Given the description of an element on the screen output the (x, y) to click on. 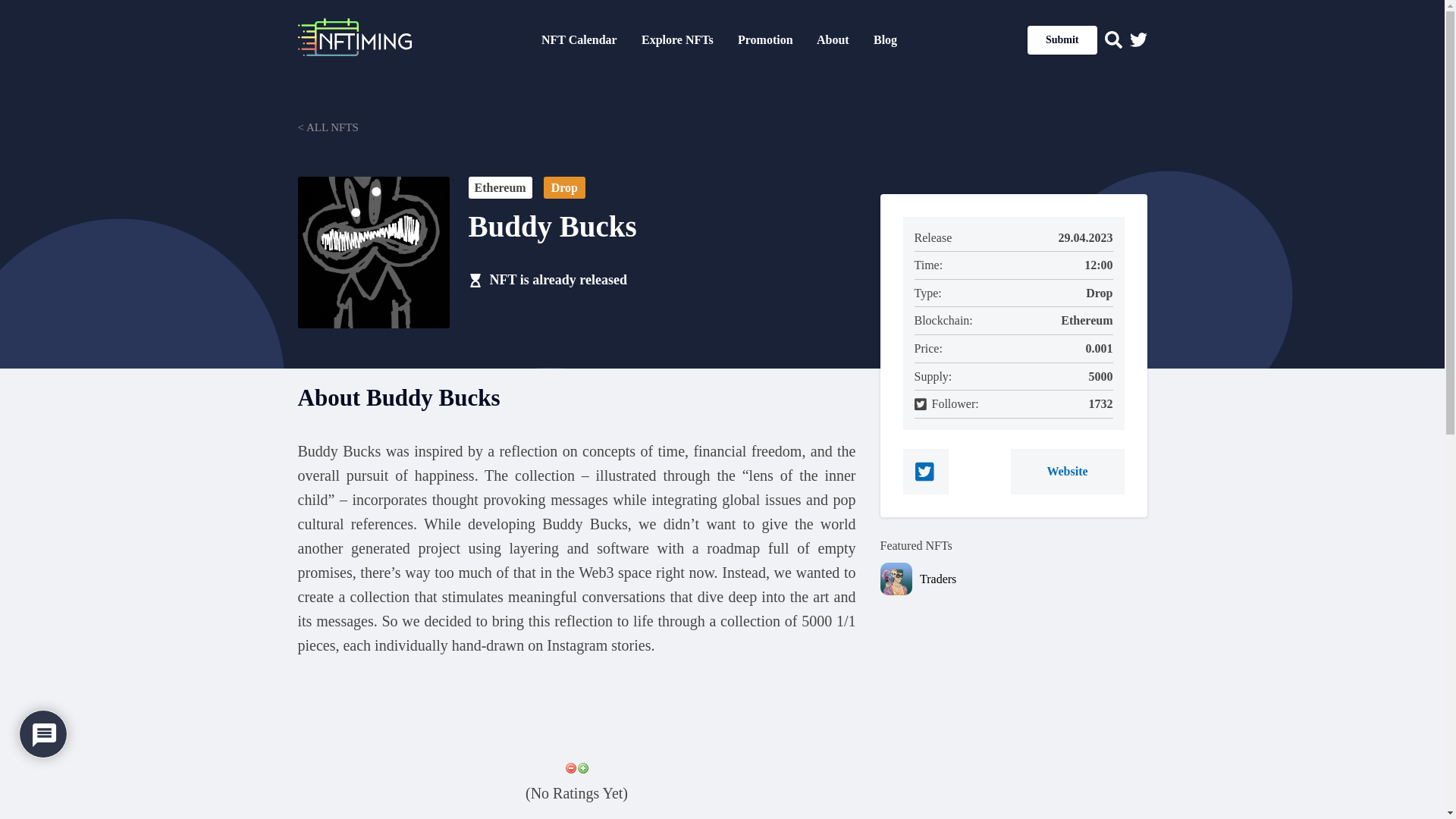
Traders (1033, 578)
Blog (884, 39)
Vote Up (582, 767)
Submit (1062, 39)
Promotion (765, 40)
NFT Calendar (579, 40)
Vote Down (570, 767)
Website (1067, 471)
